Given the description of an element on the screen output the (x, y) to click on. 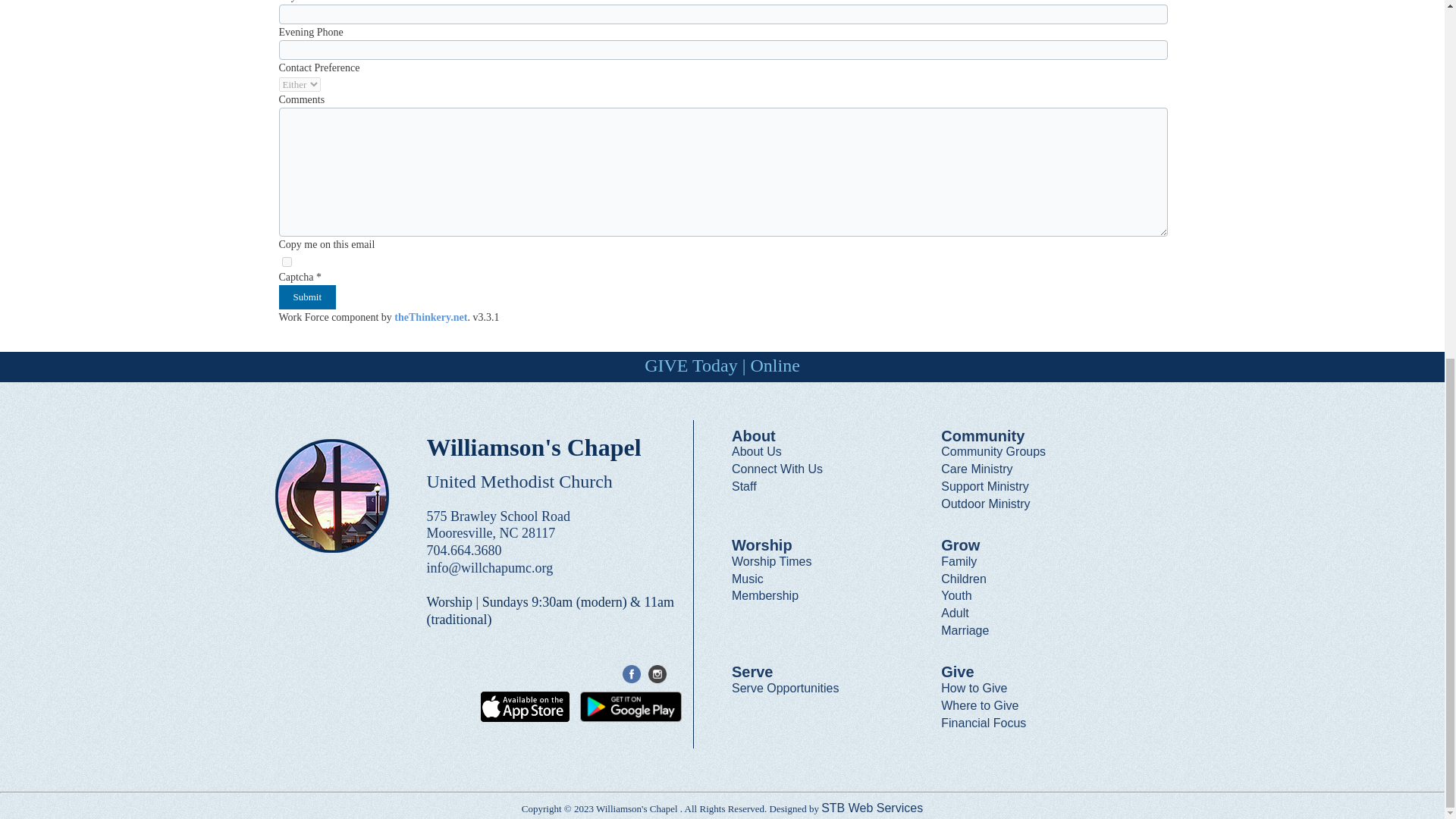
1 (287, 261)
